Given the description of an element on the screen output the (x, y) to click on. 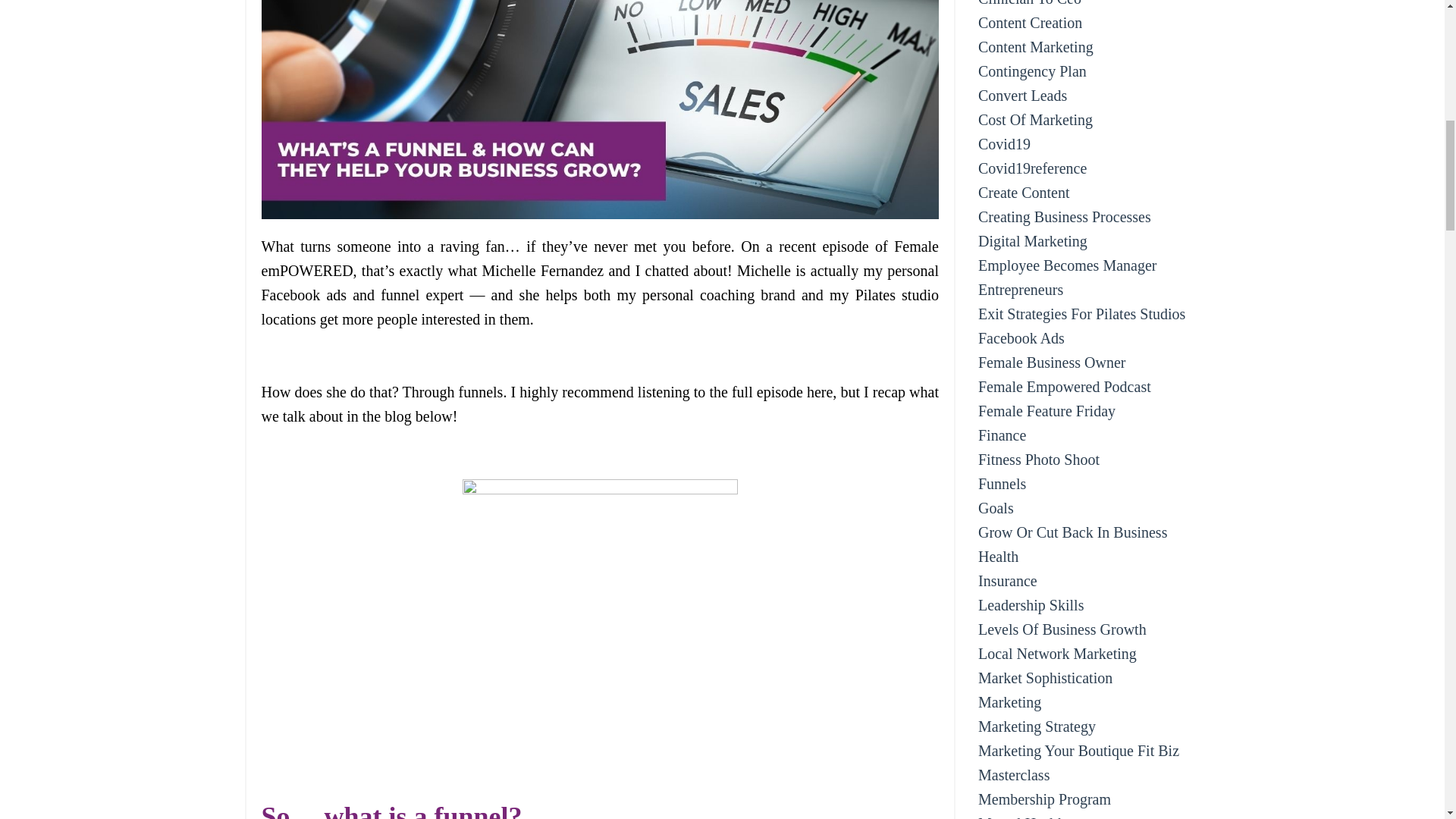
Contingency Plan (1088, 70)
Covid19reference (1088, 168)
Content Creation (1088, 22)
Convert Leads (1088, 95)
Covid19 (1088, 143)
Content Marketing (1088, 46)
Cost Of Marketing (1088, 119)
Clinician To Ceo (1088, 5)
